Given the description of an element on the screen output the (x, y) to click on. 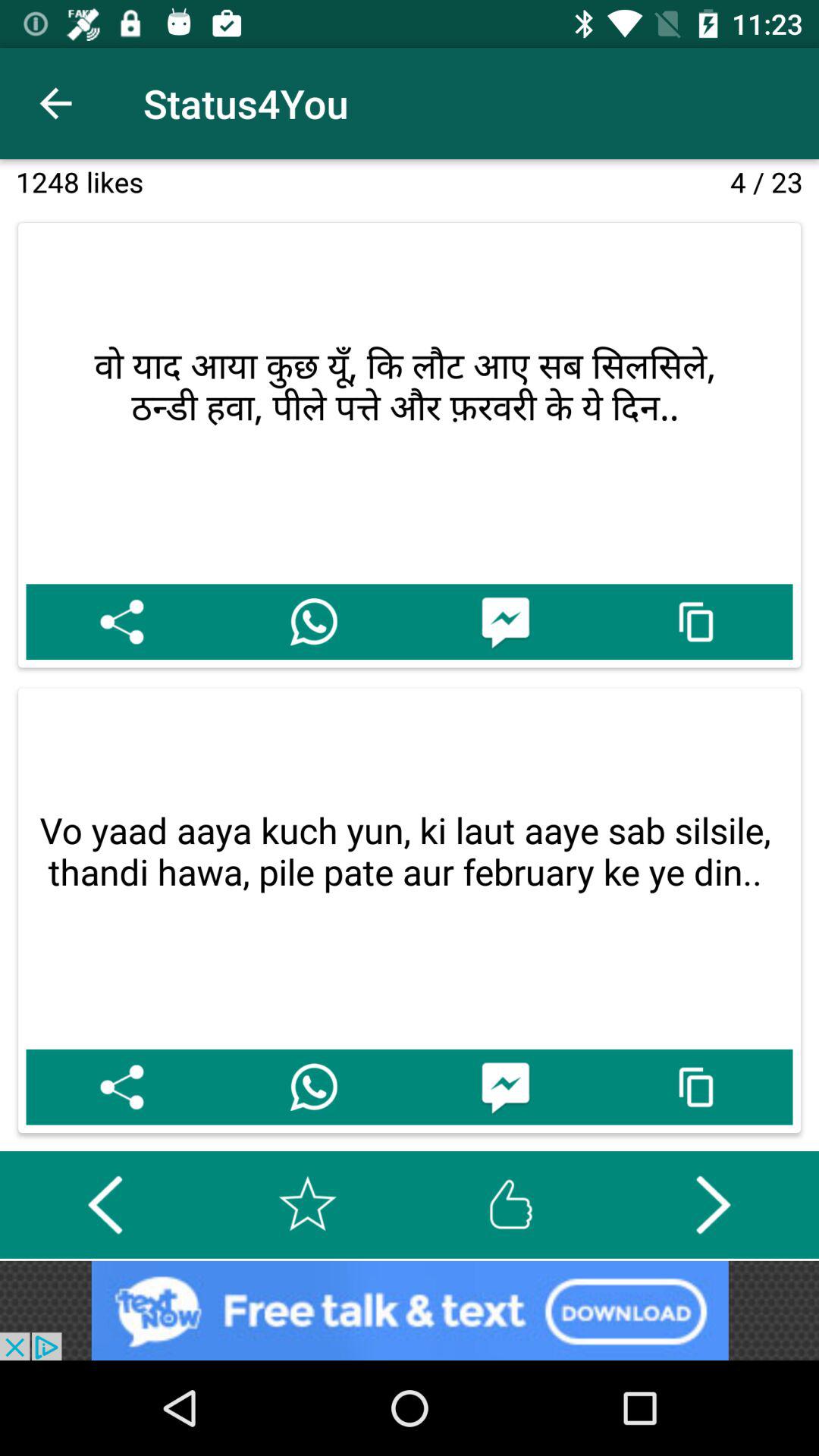
share for whasapp (313, 621)
